Given the description of an element on the screen output the (x, y) to click on. 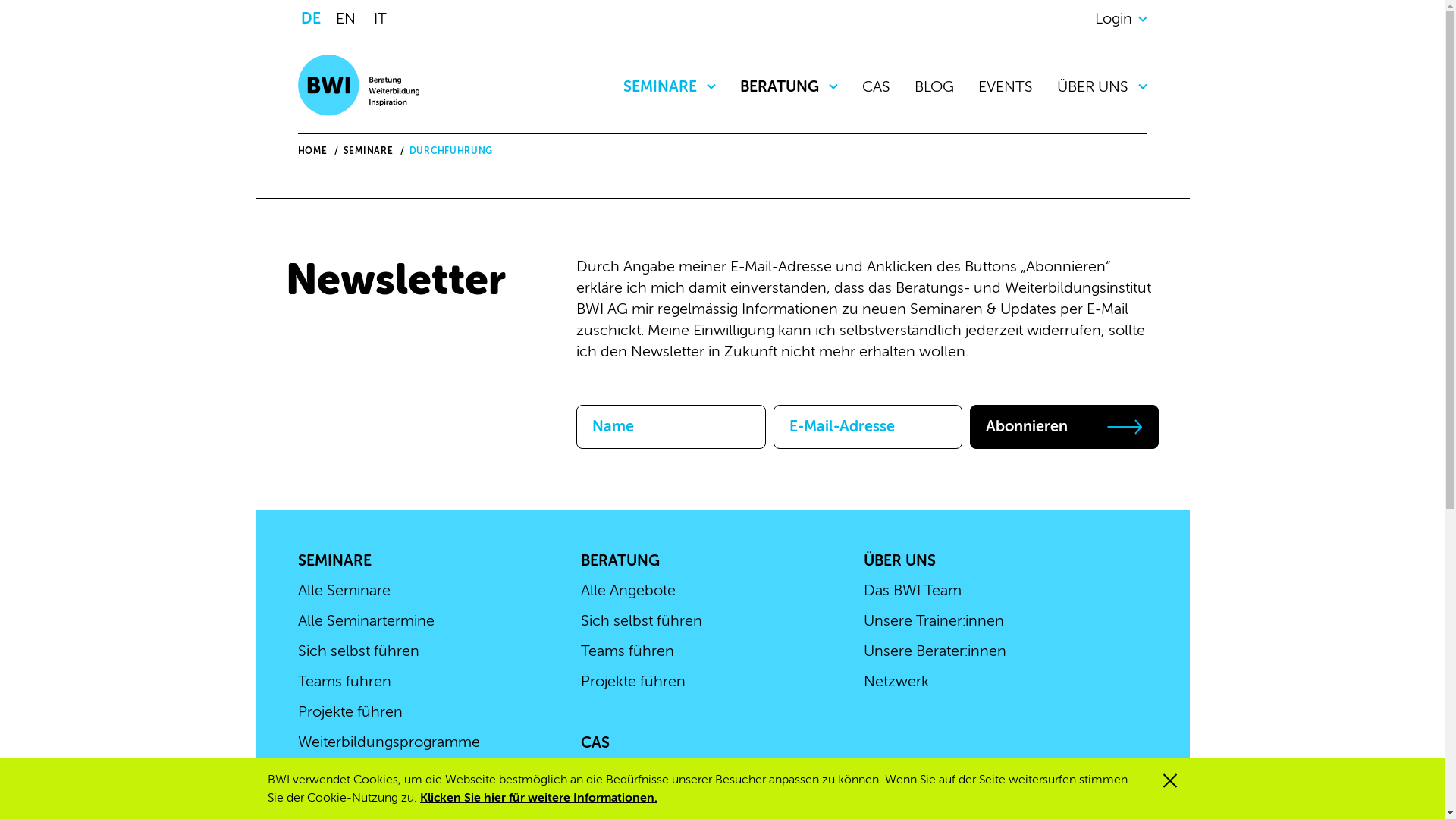
EN Element type: text (349, 17)
Unsere Berater:innen Element type: text (934, 650)
SEMINARE Element type: text (368, 150)
Login Element type: text (1121, 17)
BLOG Element type: text (600, 776)
Alle Seminare Element type: text (343, 590)
SEMINARE Element type: text (333, 561)
Massgeschneiderte Seminare Element type: text (396, 772)
Alle Seminartermine Element type: text (365, 620)
BERATUNG Element type: text (788, 86)
SEMINARE Element type: text (669, 86)
Netzwerk Element type: text (895, 681)
Abonnieren Element type: text (1063, 426)
IT Element type: text (384, 17)
BERATUNG Element type: text (619, 561)
DE Element type: text (314, 17)
Weiterbildungsprogramme Element type: text (388, 741)
CAS Element type: text (875, 86)
HOME Element type: text (311, 150)
Unsere Trainer:innen Element type: text (933, 620)
BLOG Element type: text (933, 86)
Das BWI Team Element type: text (912, 590)
EVENTS Element type: text (1005, 86)
CAS Element type: text (594, 743)
Alle Angebote Element type: text (627, 590)
